Given the description of an element on the screen output the (x, y) to click on. 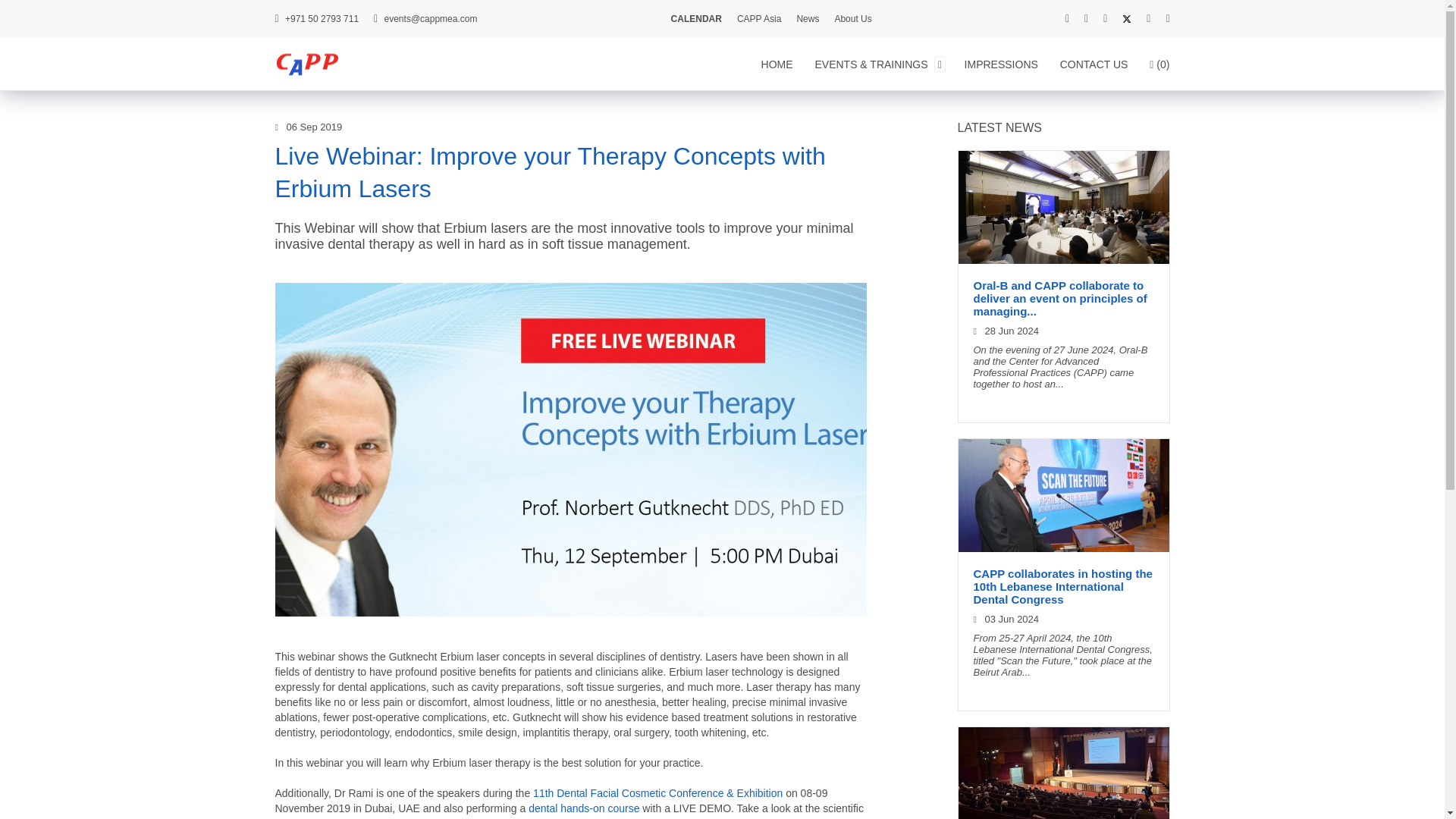
About Us (852, 18)
HOME (781, 63)
IMPRESSIONS (1004, 63)
CAPP Asia (758, 18)
CONTACT US (1097, 63)
CALENDAR (696, 18)
News (807, 18)
